Given the description of an element on the screen output the (x, y) to click on. 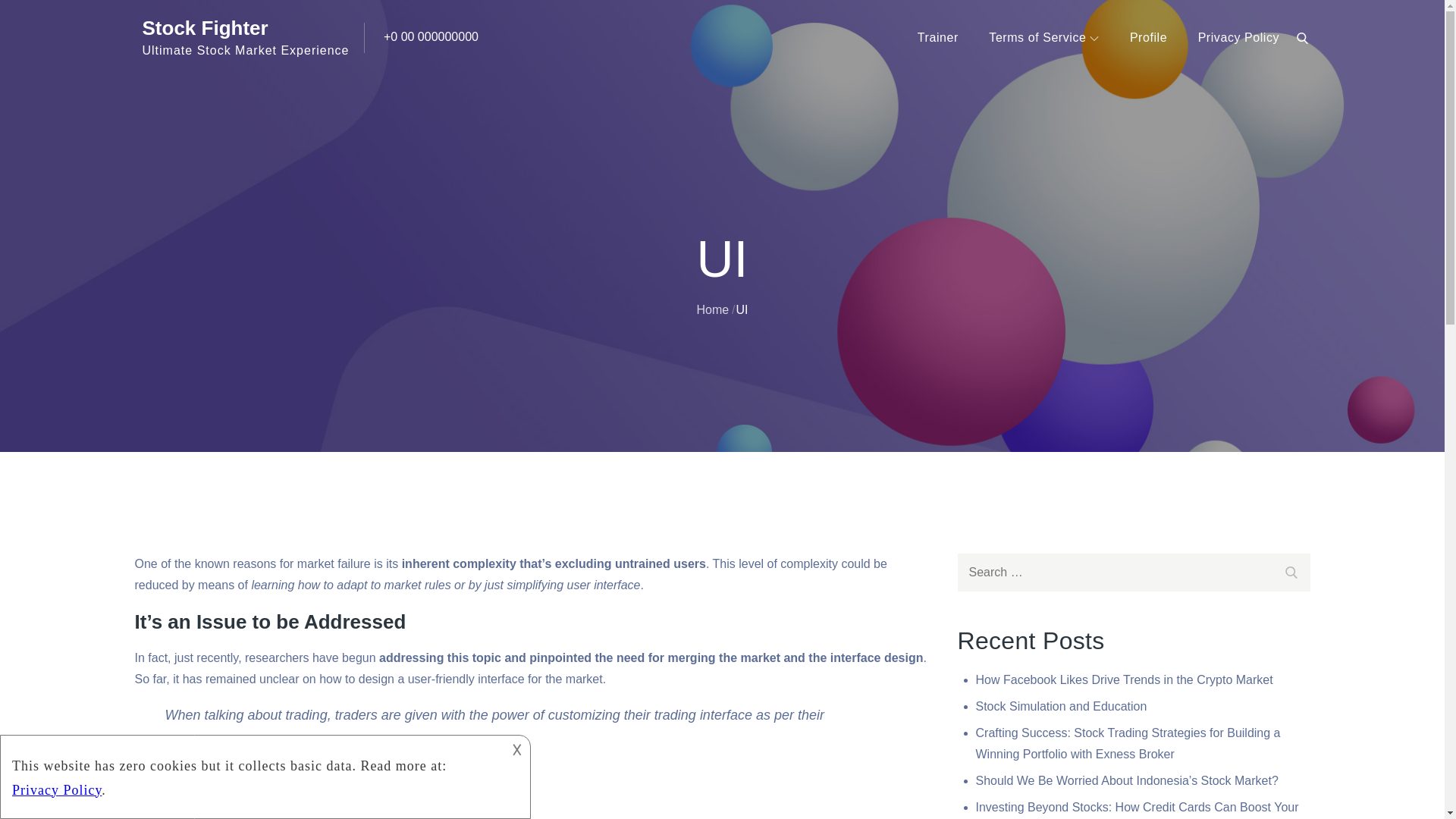
Profile (1148, 38)
Search (1291, 570)
Stock Simulation and Education (1061, 706)
Privacy Policy (1238, 38)
How Facebook Likes Drive Trends in the Crypto Market (1123, 679)
Stock Fighter (204, 27)
merging the market and the interface design (795, 657)
Trainer (937, 38)
Home (712, 308)
Terms of Service (1043, 38)
description (252, 773)
Home (16, 466)
